Given the description of an element on the screen output the (x, y) to click on. 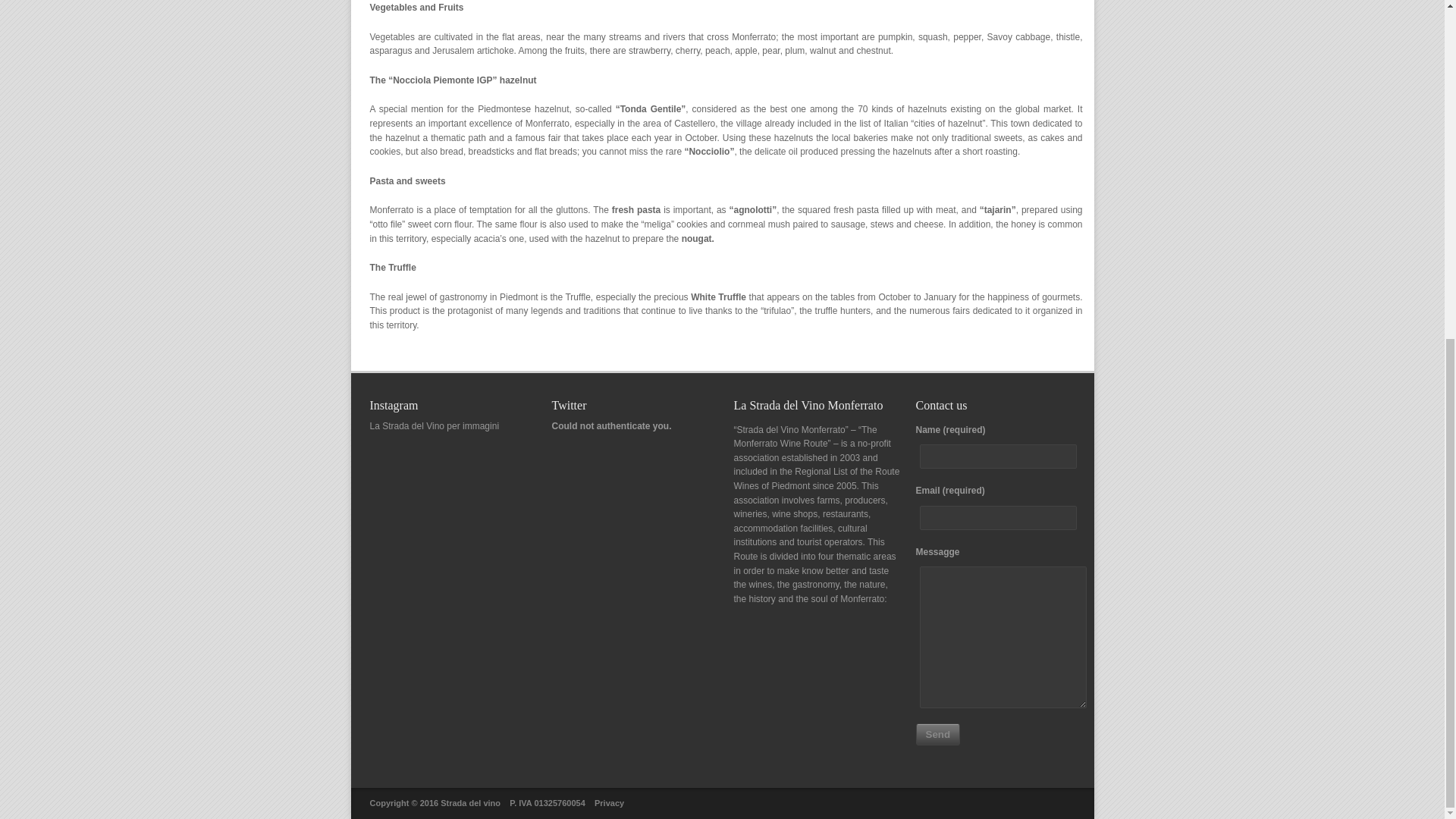
Send (937, 734)
Send (937, 734)
